Given the description of an element on the screen output the (x, y) to click on. 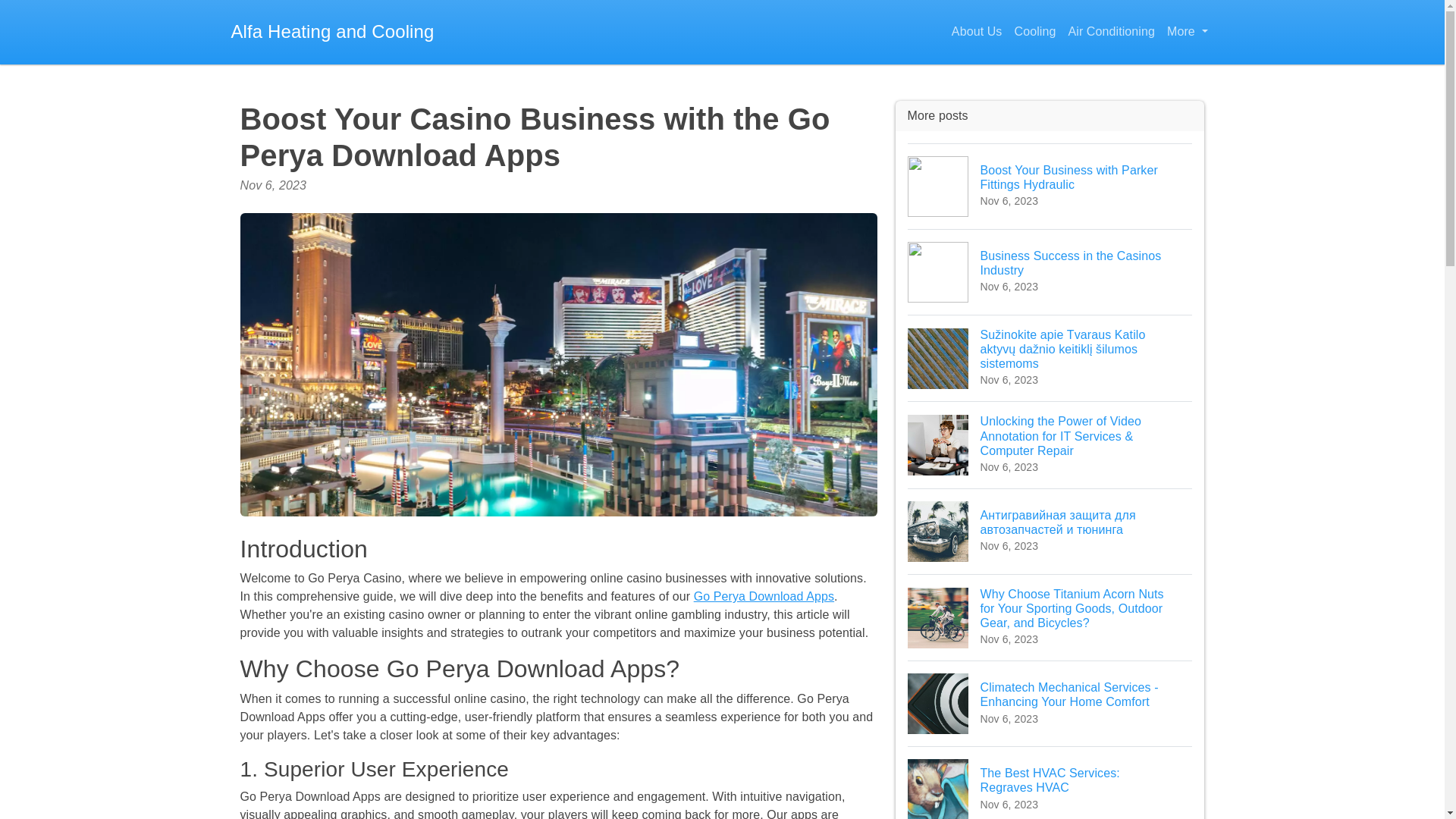
Cooling (1049, 271)
About Us (1034, 32)
Air Conditioning (976, 32)
More (1110, 32)
Go Perya Download Apps (1186, 32)
Alfa Heating and Cooling (1049, 782)
